Given the description of an element on the screen output the (x, y) to click on. 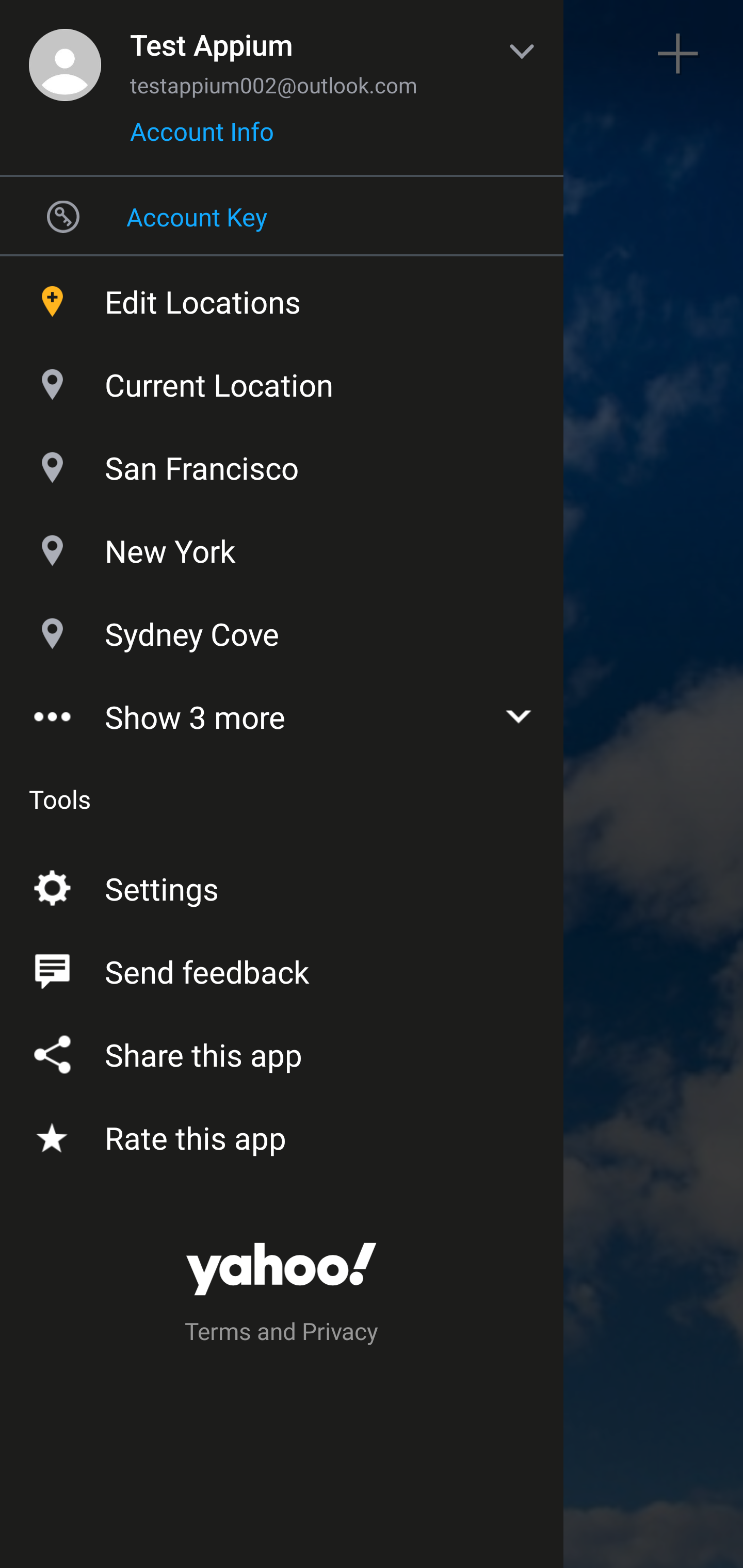
Sidebar (64, 54)
Account Info (202, 137)
Account Key (281, 216)
Edit Locations (281, 296)
Current Location (281, 379)
San Francisco (281, 462)
New York (281, 546)
Sydney Cove (281, 629)
Settings (281, 884)
Send feedback (281, 967)
Share this app (281, 1050)
Terms and Privacy Terms and privacy button (281, 1334)
